Given the description of an element on the screen output the (x, y) to click on. 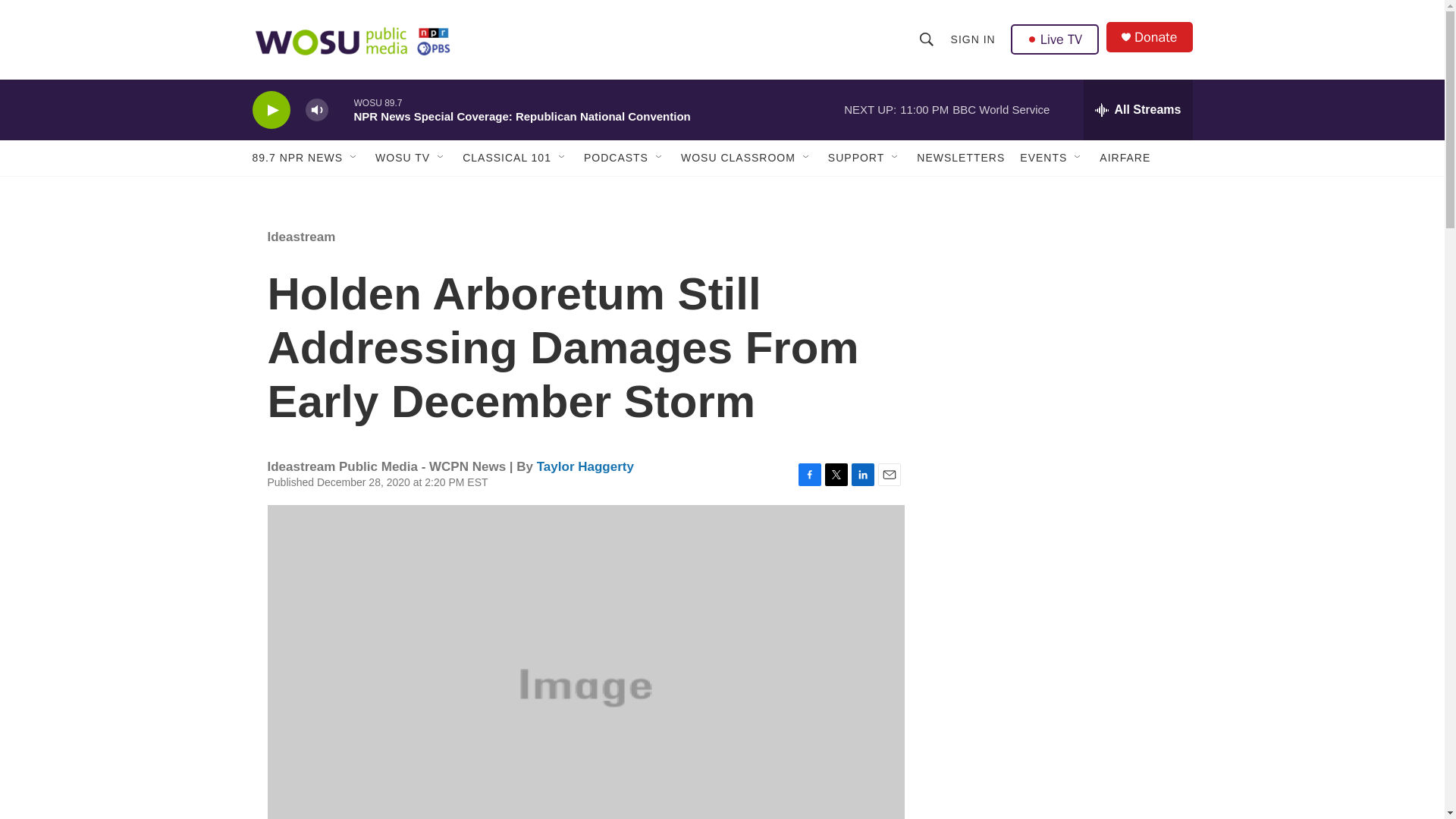
3rd party ad content (1062, 316)
3rd party ad content (1062, 536)
